Given the description of an element on the screen output the (x, y) to click on. 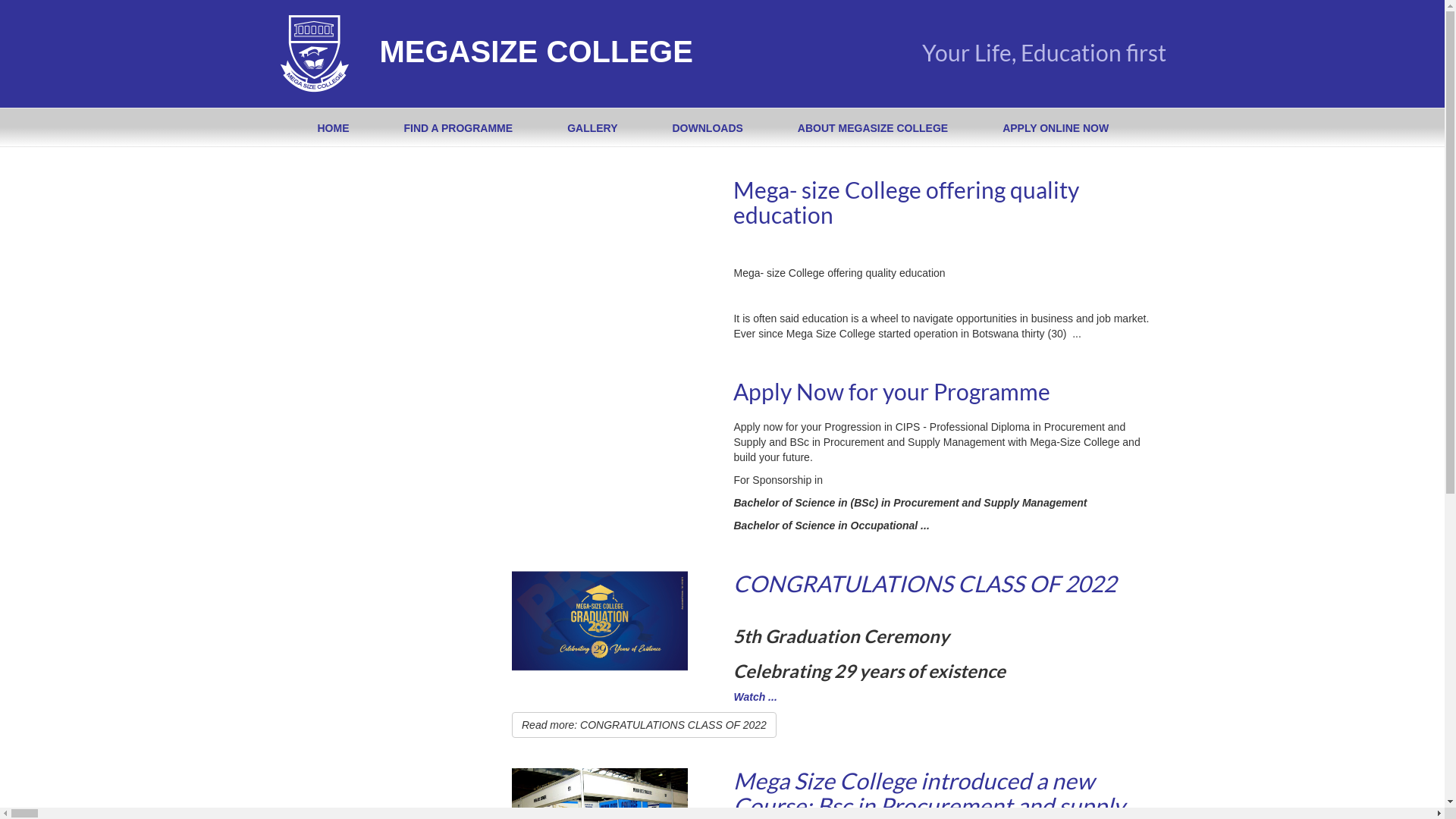
Read more: CONGRATULATIONS CLASS OF 2022 Element type: text (643, 724)
Watch ... Element type: text (754, 696)
ABOUT MEGASIZE COLLEGE Element type: text (872, 127)
FIND A PROGRAMME Element type: text (457, 127)
Mega- size College offering quality education Element type: text (906, 201)
Megasize College Element type: hover (314, 53)
APPLY ONLINE NOW Element type: text (1055, 127)
Apply Now for your Programme Element type: text (891, 390)
GALLERY Element type: text (591, 127)
DOWNLOADS Element type: text (706, 127)
HOME Element type: text (332, 127)
CONGRATULATIONS CLASS OF 2022 Element type: text (924, 582)
